Given the description of an element on the screen output the (x, y) to click on. 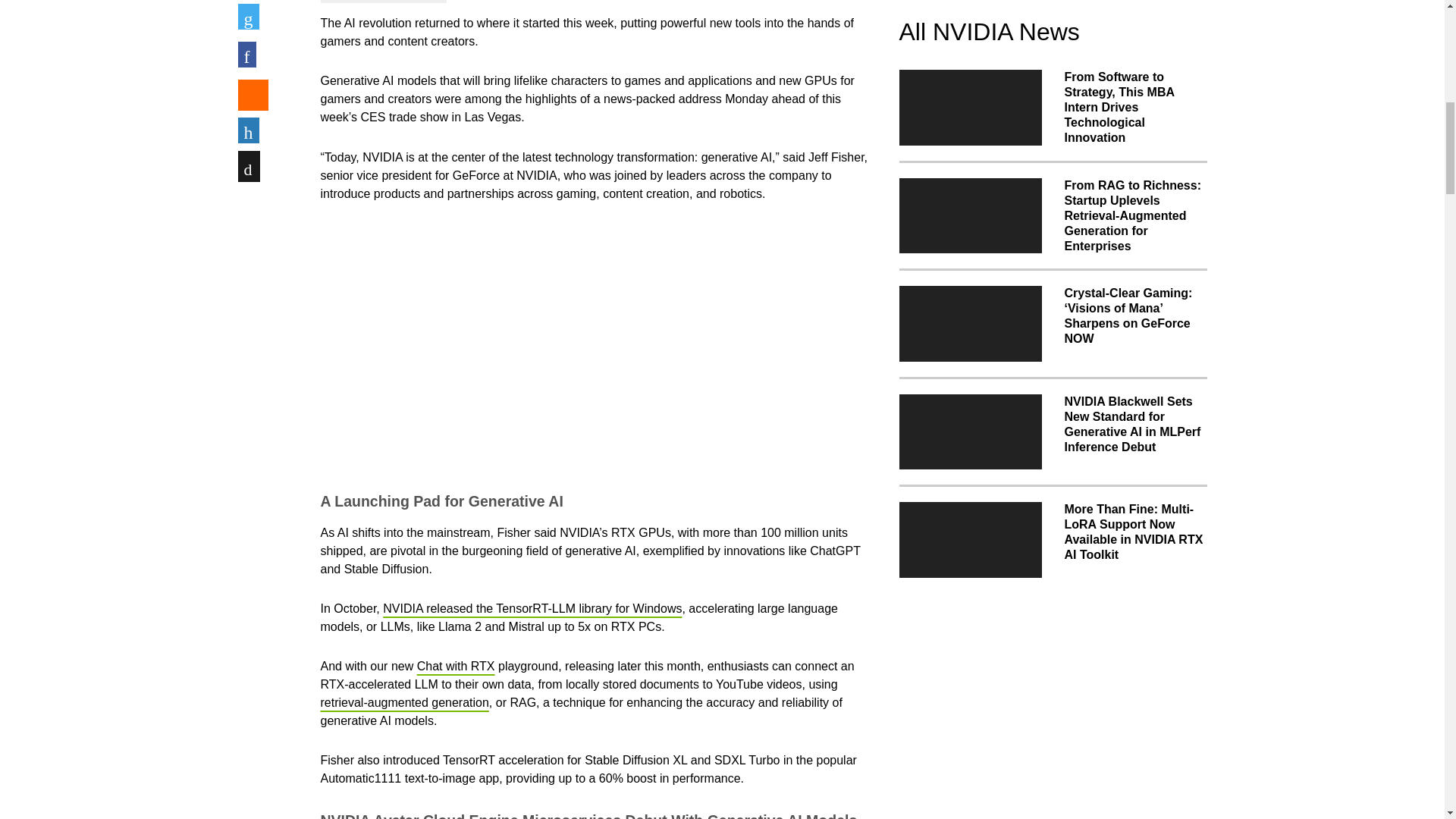
YouTube video player (532, 343)
